Given the description of an element on the screen output the (x, y) to click on. 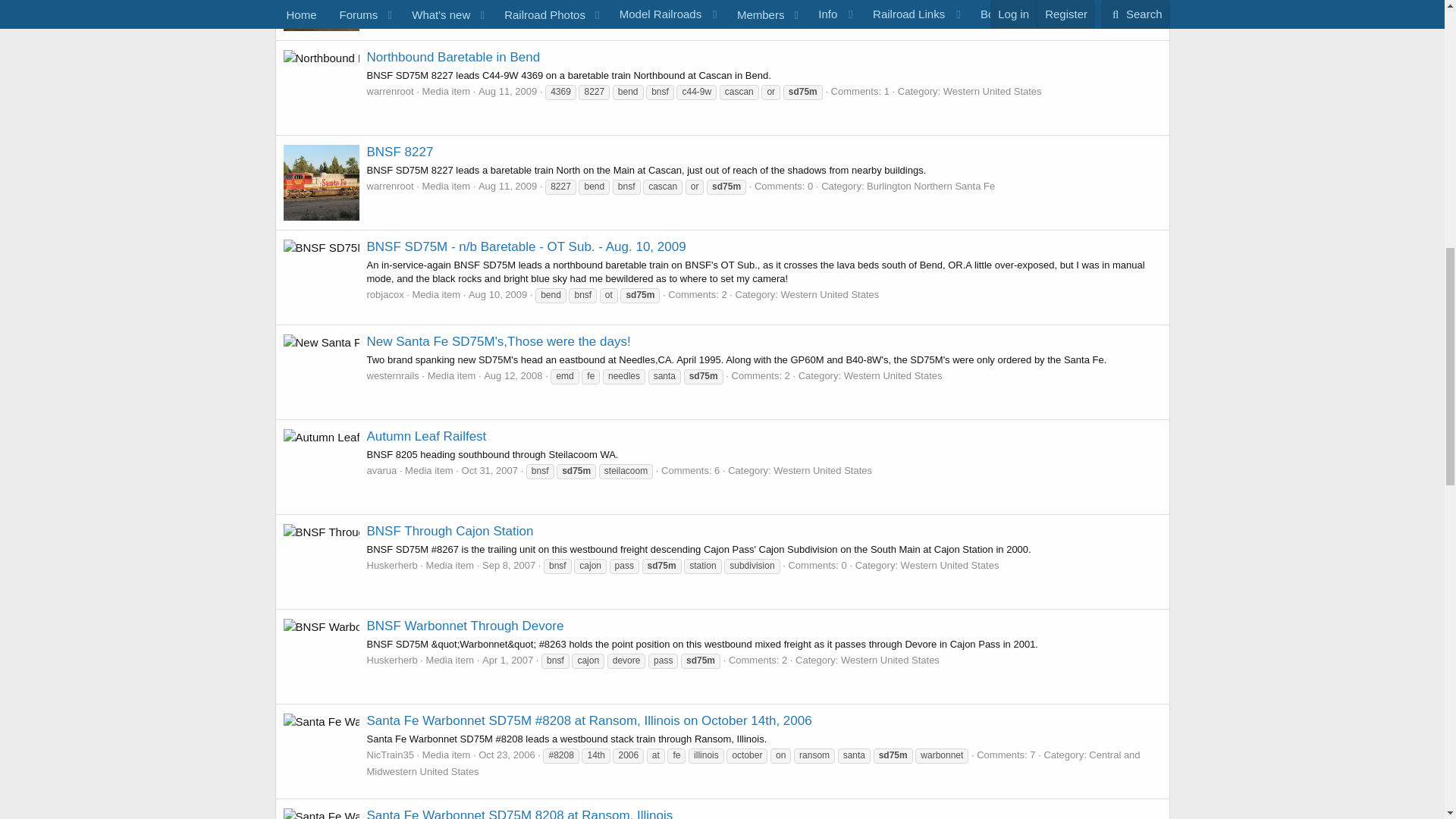
Apr 1, 2007 at 7:55 AM (506, 659)
Aug 12, 2008 at 10:36 PM (512, 375)
Oct 23, 2006 at 8:25 PM (506, 754)
Oct 31, 2007 at 7:38 PM (489, 470)
Aug 10, 2009 at 8:55 PM (497, 294)
Sep 8, 2007 at 6:44 PM (508, 564)
Aug 11, 2009 at 2:36 PM (508, 91)
Aug 11, 2009 at 11:05 AM (508, 185)
Dec 5, 2009 at 5:21 PM (494, 1)
